Given the description of an element on the screen output the (x, y) to click on. 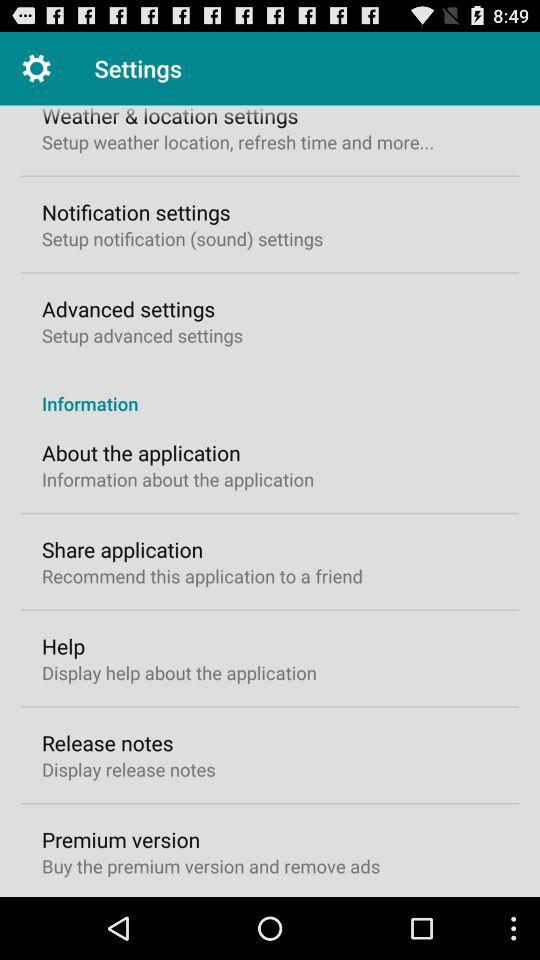
press icon above the weather & location settings item (36, 68)
